Given the description of an element on the screen output the (x, y) to click on. 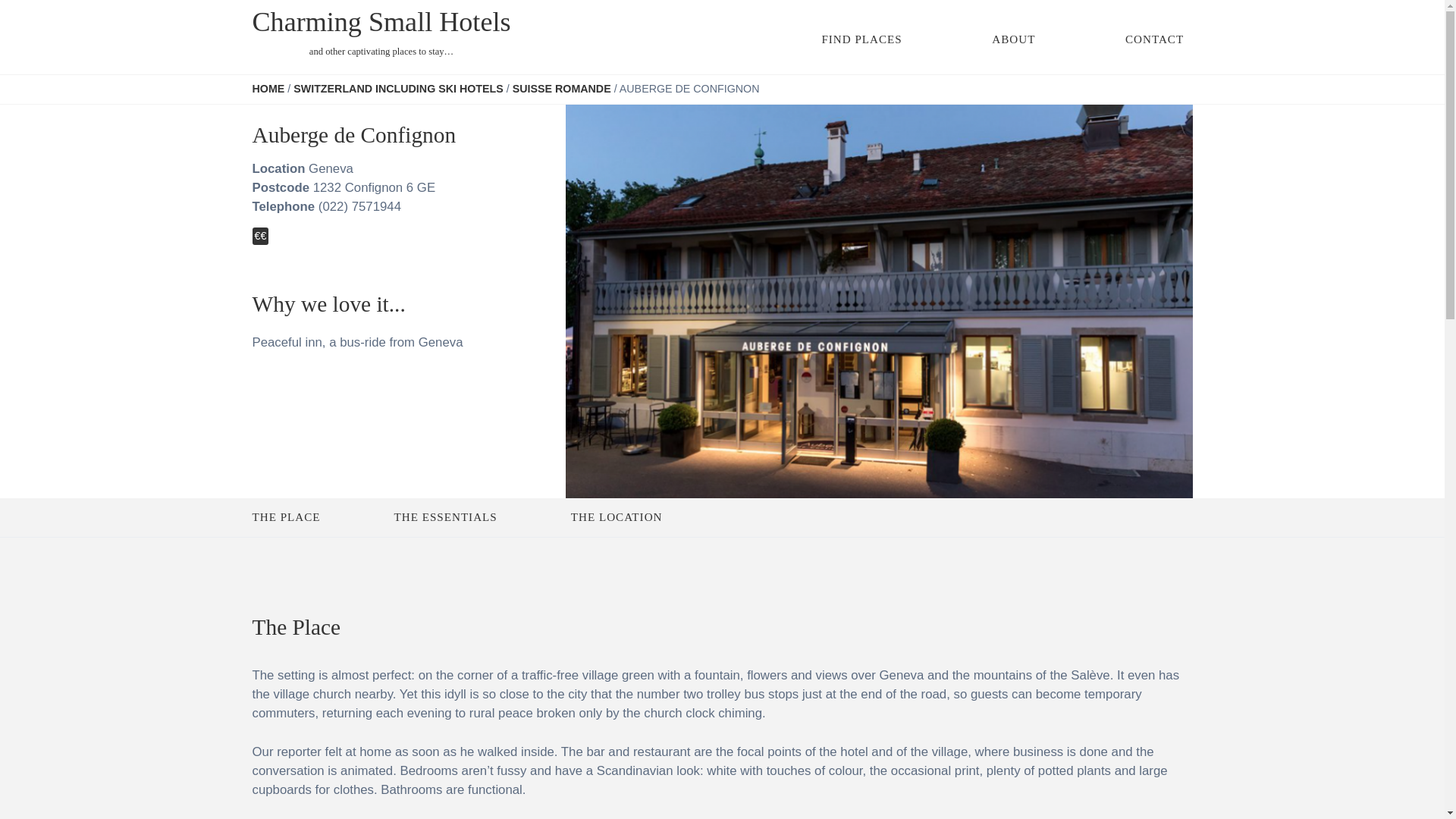
THE PLACE (285, 516)
HOME (267, 88)
SUISSE ROMANDE (561, 88)
SWITZERLAND INCLUDING SKI HOTELS (398, 88)
THE LOCATION (616, 516)
THE ESSENTIALS (445, 516)
ABOUT (1013, 39)
CONTACT (1154, 39)
FIND PLACES (861, 39)
